Given the description of an element on the screen output the (x, y) to click on. 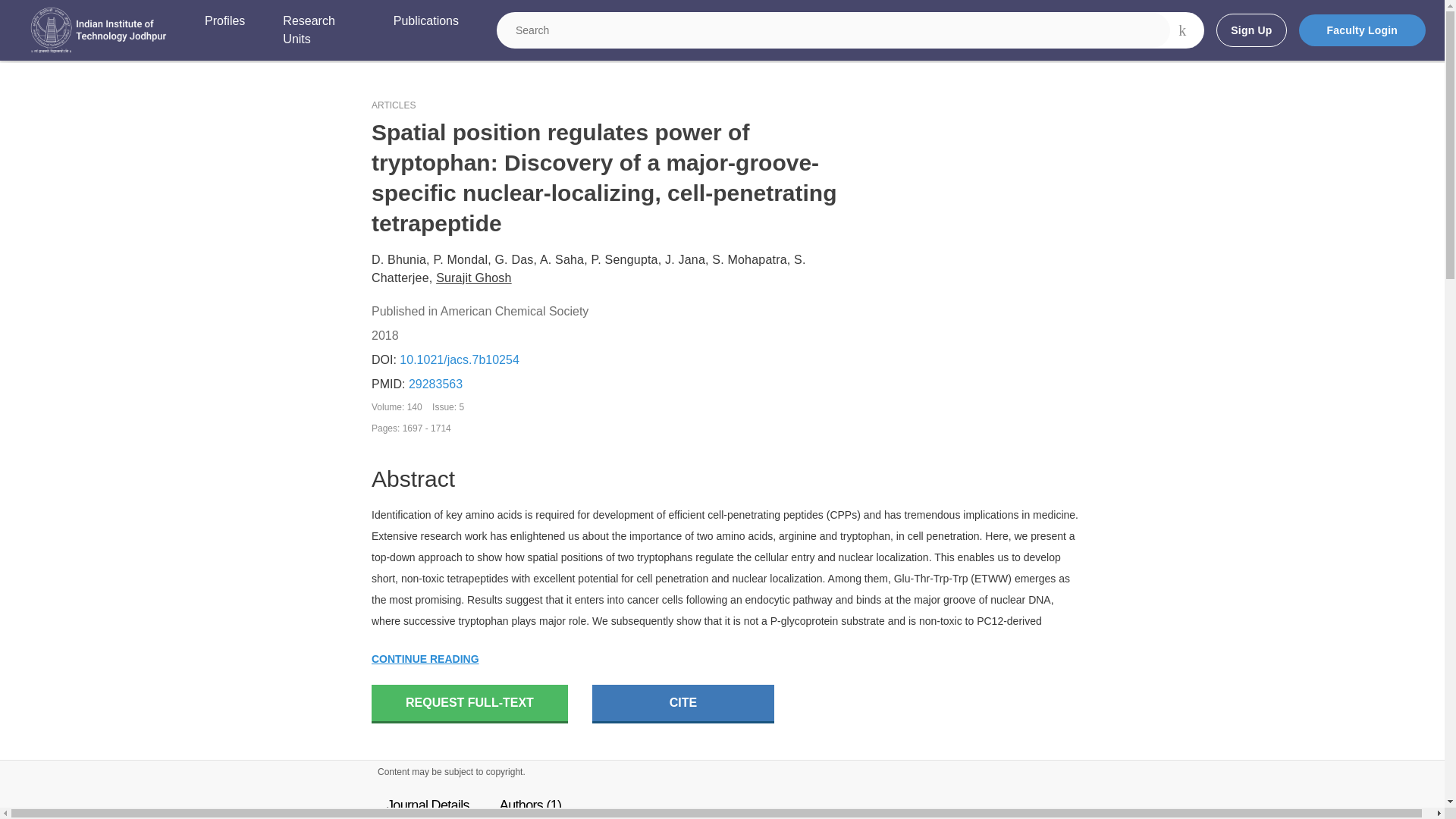
29283563 (436, 383)
Institution logo (98, 30)
Journal Details (427, 804)
Sign Up (1250, 29)
Surajit Ghosh (473, 277)
Faculty Login (1361, 29)
Profiles (224, 30)
Publications (425, 30)
REQUEST FULL-TEXT (469, 703)
Research Units (318, 30)
